Given the description of an element on the screen output the (x, y) to click on. 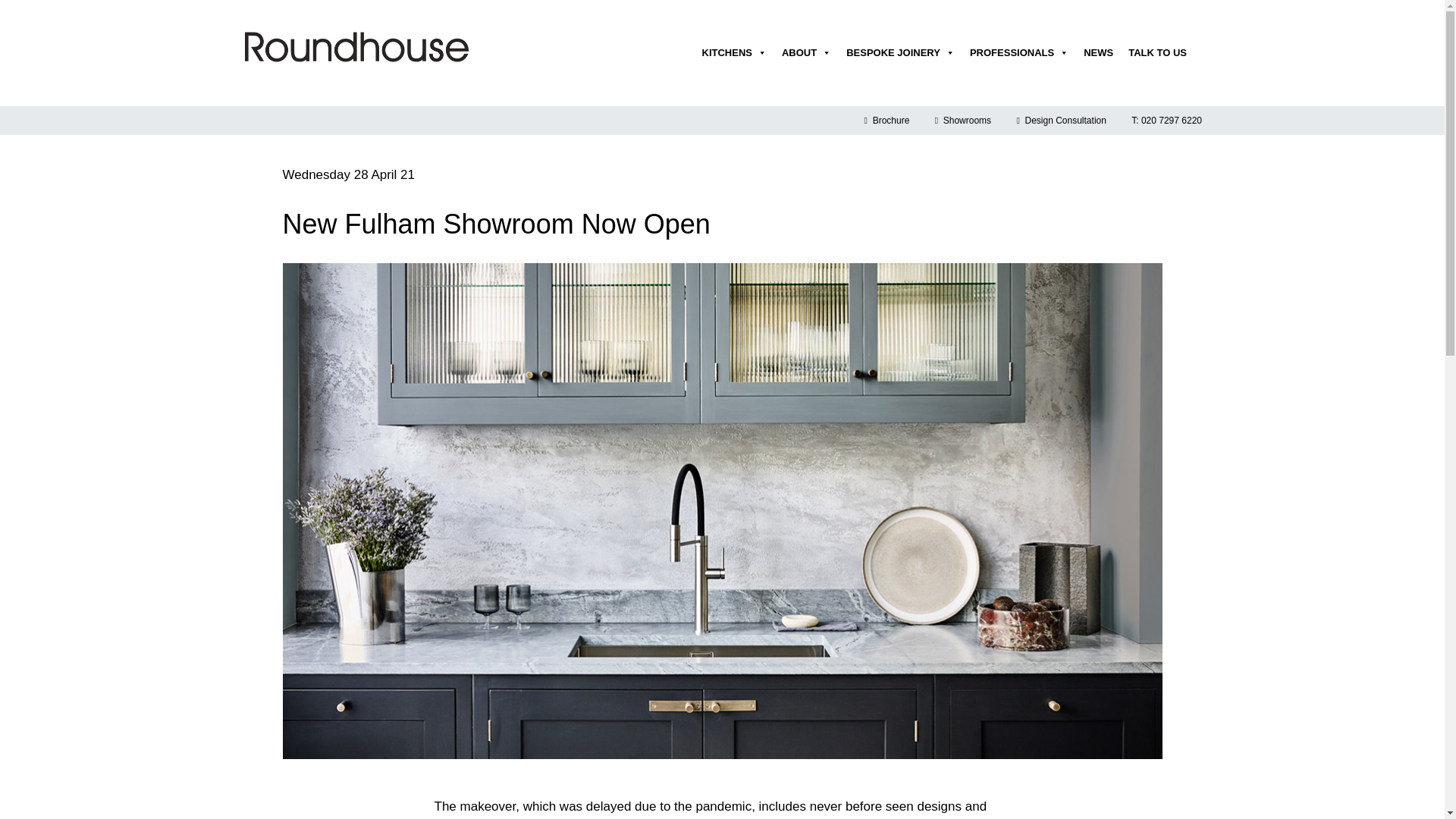
TALK TO US (1157, 52)
  Brochure (887, 120)
PROFESSIONALS (1018, 52)
ABOUT (806, 52)
BESPOKE JOINERY (900, 52)
KITCHENS (734, 52)
NEWS (1098, 52)
